Given the description of an element on the screen output the (x, y) to click on. 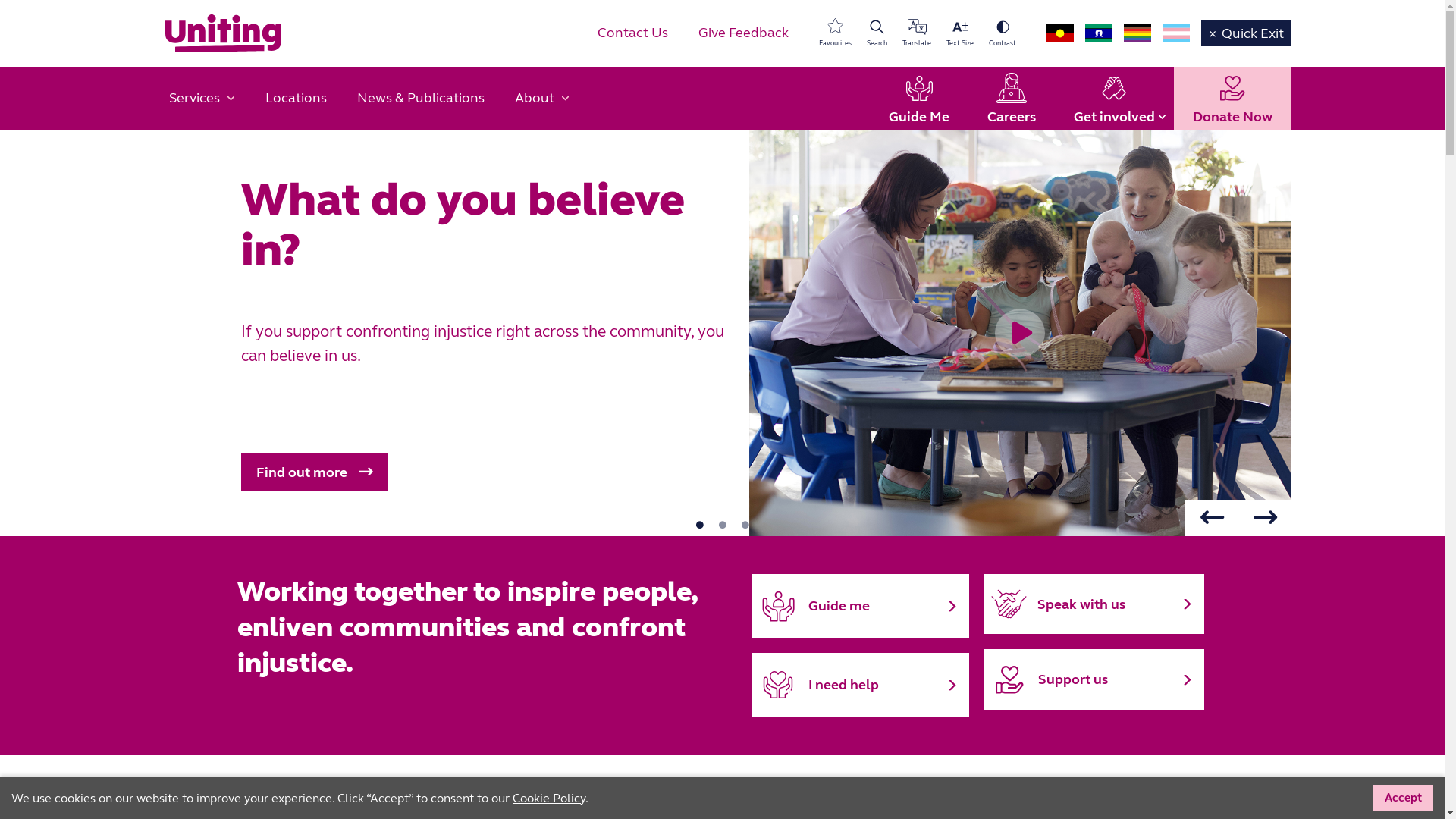
Text Size Element type: text (959, 32)
Search Element type: text (876, 32)
Support us Element type: text (1094, 679)
About Element type: text (540, 98)
Uniting Element type: text (223, 33)
Guide me Element type: text (859, 605)
Translate Element type: text (916, 32)
Cookie Policy Element type: text (548, 797)
Careers Element type: text (1010, 98)
Speak with us Element type: text (1094, 603)
Give Feedback Element type: text (743, 32)
Get involved Element type: text (1113, 98)
I need help Element type: text (859, 684)
Locations Element type: text (296, 98)
News & Publications Element type: text (419, 98)
Favourites Element type: text (835, 33)
Services Element type: text (201, 98)
Contrast Element type: text (1002, 32)
Donate Now Element type: text (1232, 98)
Accept Element type: text (1403, 797)
Guide Me Element type: text (918, 98)
Contact Us Element type: text (632, 32)
Find out more Element type: text (314, 471)
